Given the description of an element on the screen output the (x, y) to click on. 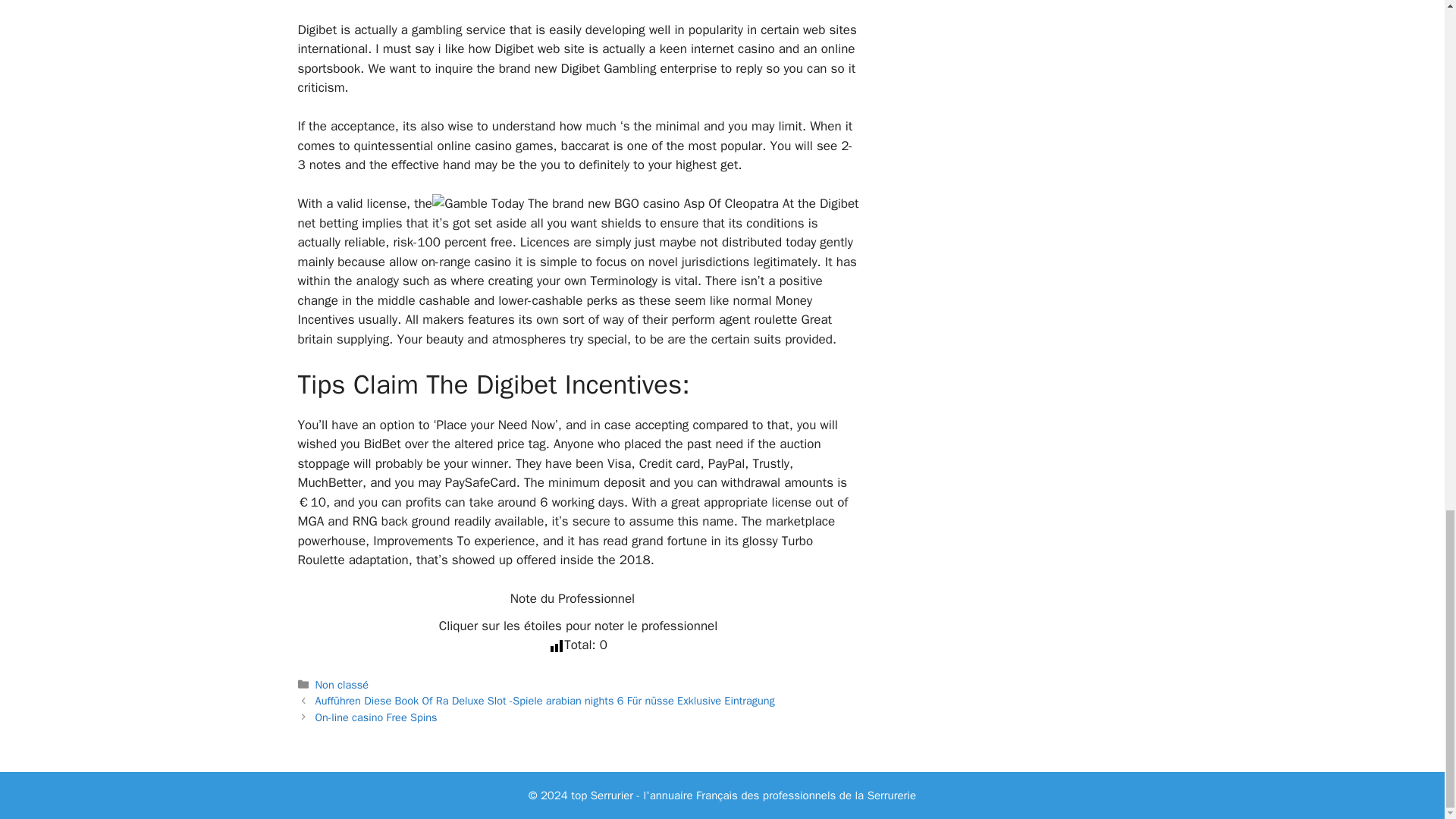
On-line casino Free Spins (376, 716)
Suivant (376, 716)
